Given the description of an element on the screen output the (x, y) to click on. 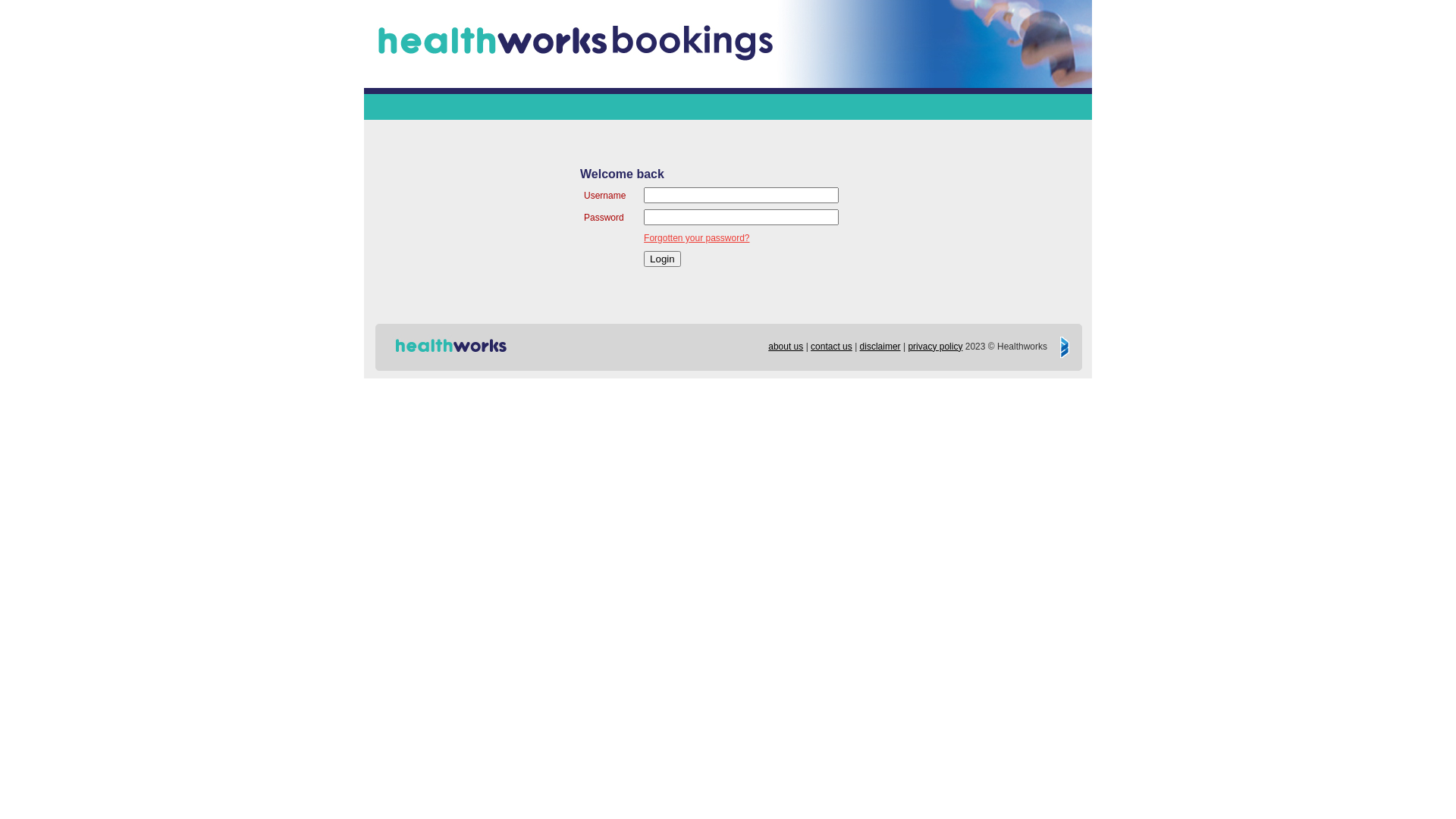
privacy policy Element type: text (934, 346)
Forgotten your password? Element type: text (696, 237)
Healthworks&reg; Element type: text (450, 346)
Login Element type: text (661, 258)
about us Element type: text (785, 346)
contact us Element type: text (831, 346)
disclaimer Element type: text (879, 346)
